Given the description of an element on the screen output the (x, y) to click on. 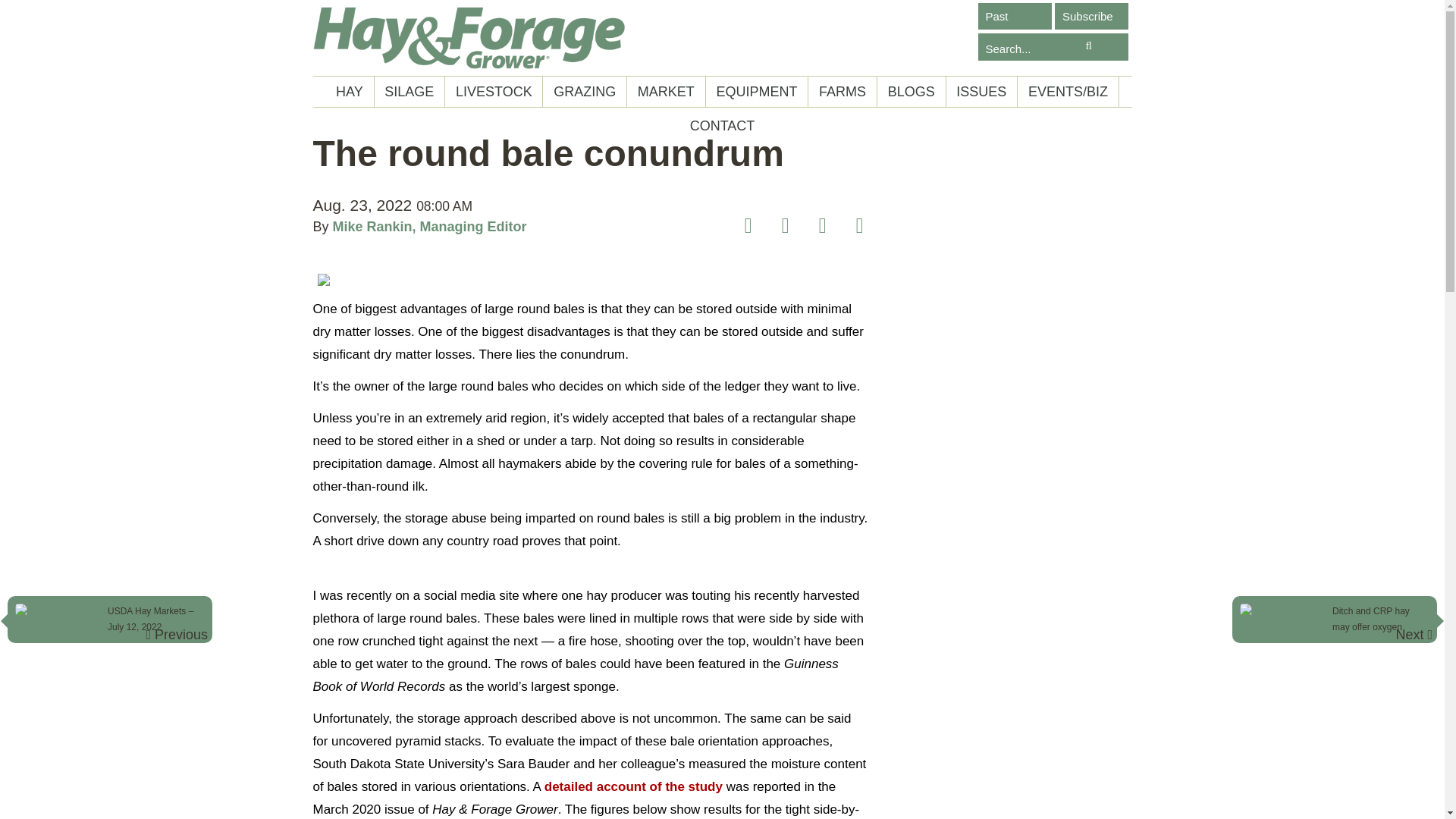
Hay and Forage Grower Magazine (469, 38)
HAY (349, 91)
LIVESTOCK (493, 91)
BLOGS (911, 91)
GRAZING (584, 91)
EQUIPMENT (756, 91)
Subscribe (1091, 16)
MARKET (665, 91)
Past Issues (1014, 16)
